Given the description of an element on the screen output the (x, y) to click on. 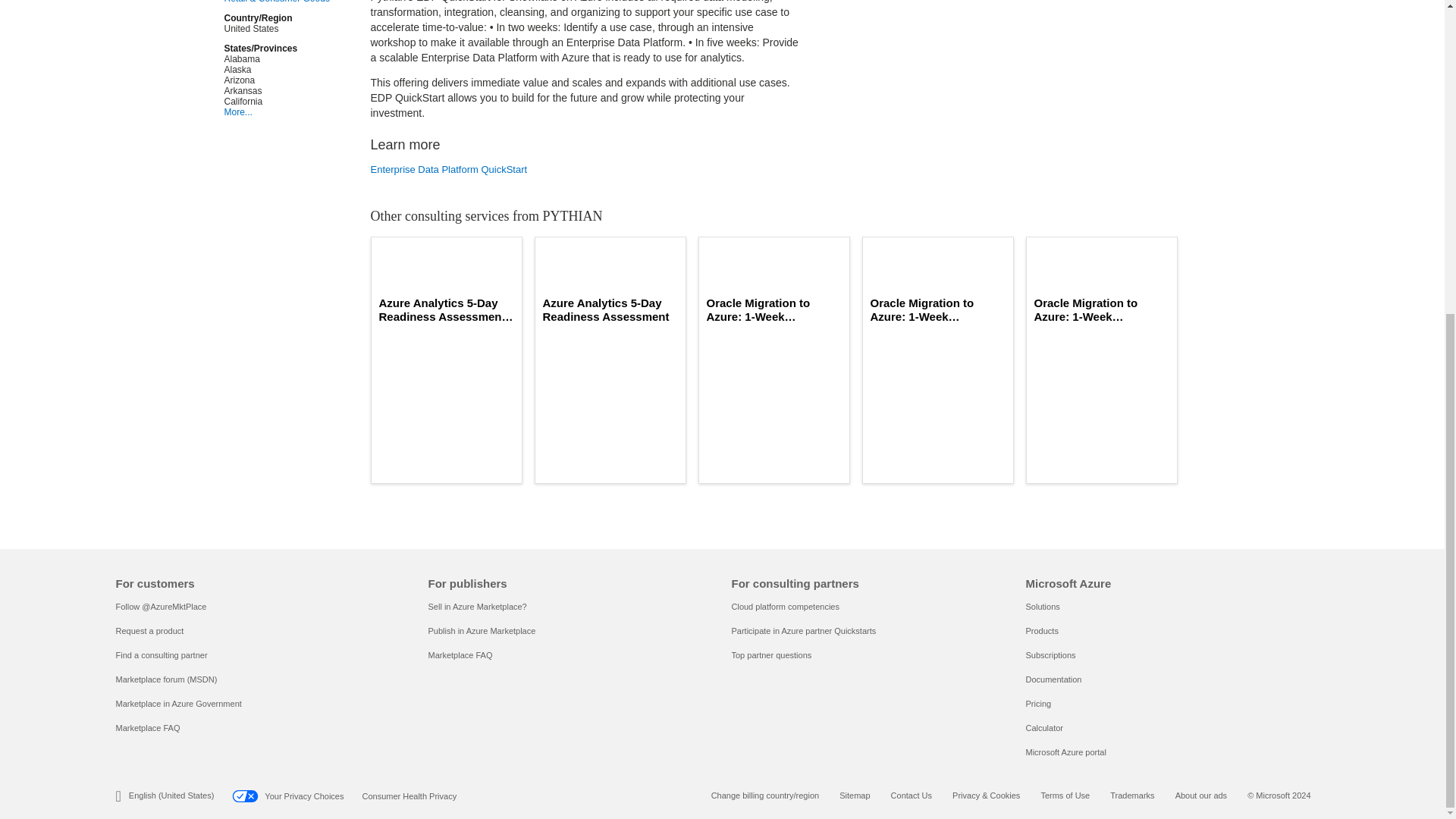
Request a product (149, 630)
 Oracle Migration to Azure: 1-Week Assessment (1101, 309)
Enterprise Data Platform QuickStart (585, 169)
Azure Analytics 5-Day Readiness Assessment (610, 309)
Find a consulting partner (160, 655)
